Given the description of an element on the screen output the (x, y) to click on. 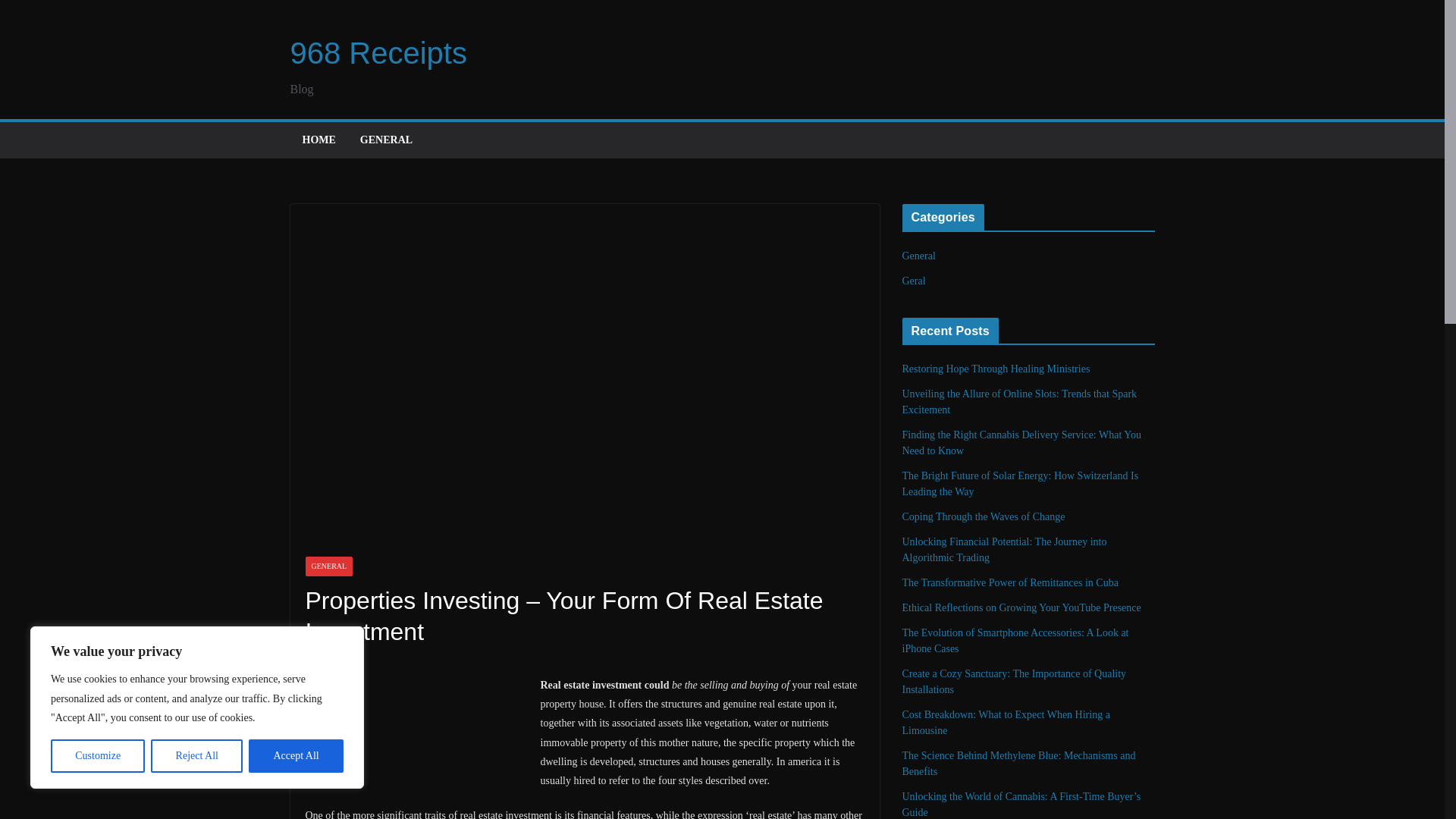
GENERAL (385, 139)
The Transformative Power of Remittances in Cuba (1010, 582)
Reject All (197, 756)
968 Receipts (377, 52)
Coping Through the Waves of Change (983, 516)
HOME (317, 139)
Restoring Hope Through Healing Ministries (996, 368)
Ethical Reflections on Growing Your YouTube Presence (1021, 607)
General (919, 255)
